Given the description of an element on the screen output the (x, y) to click on. 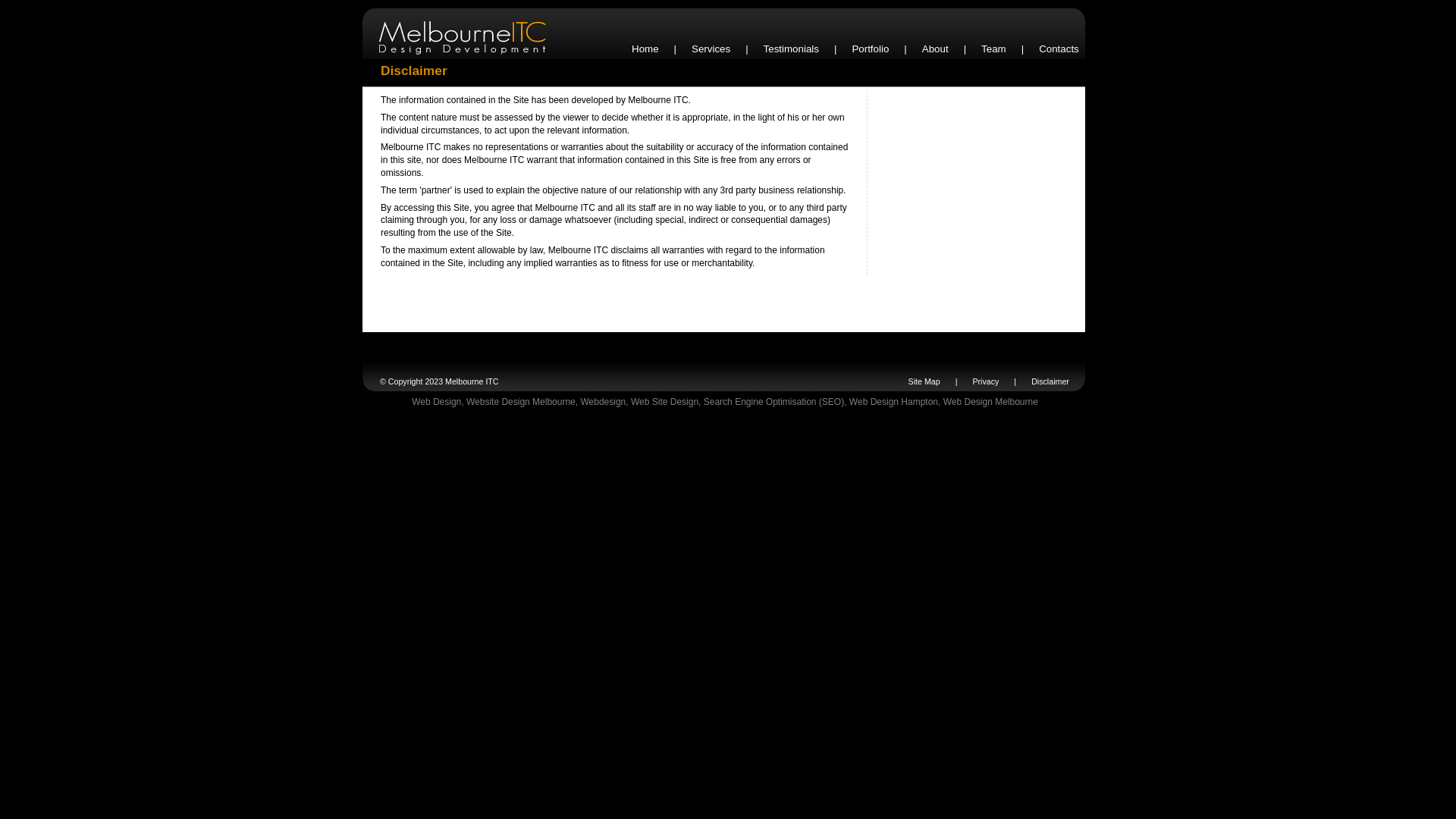
Testimonials Element type: text (791, 48)
Contacts Element type: text (1058, 48)
Privacy Element type: text (985, 380)
Portfolio Element type: text (869, 48)
Home Element type: text (644, 48)
Disclaimer Element type: text (1050, 380)
Site Map Element type: text (924, 380)
About Element type: text (935, 48)
Services Element type: text (710, 48)
Team Element type: text (993, 48)
